Given the description of an element on the screen output the (x, y) to click on. 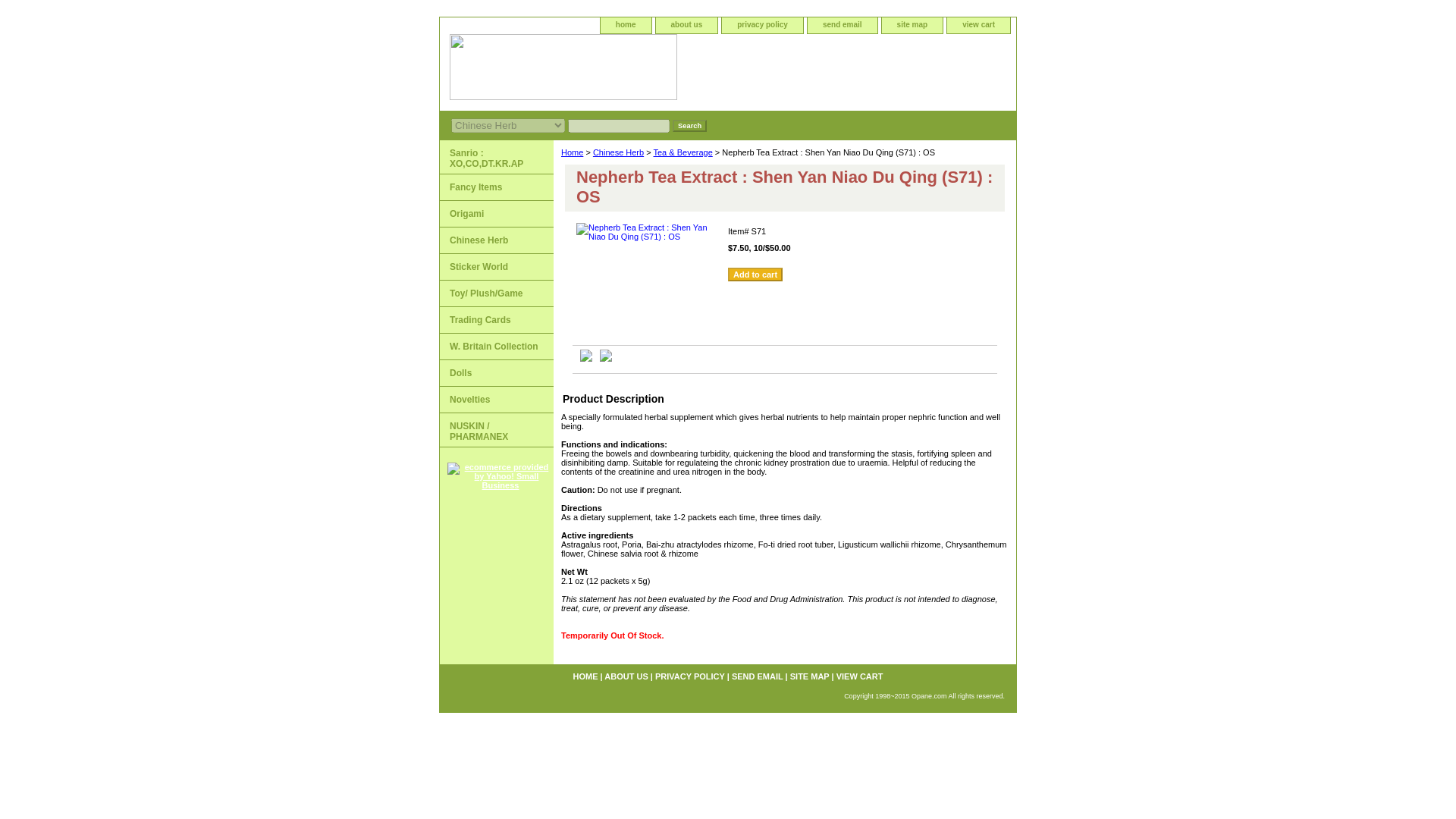
Fancy Items (496, 187)
Fancy Items (496, 187)
site map (912, 25)
SITE MAP (809, 675)
Dolls (496, 373)
Chinese Herb (496, 240)
Sanrio : XO,CO,DT.KR.AP (496, 157)
VIEW CART (859, 675)
Chinese Herb (496, 240)
PRIVACY POLICY (690, 675)
Home (571, 152)
Trading Cards (496, 320)
ABOUT US (625, 675)
Trading Cards (496, 320)
Sticker World (496, 266)
